Given the description of an element on the screen output the (x, y) to click on. 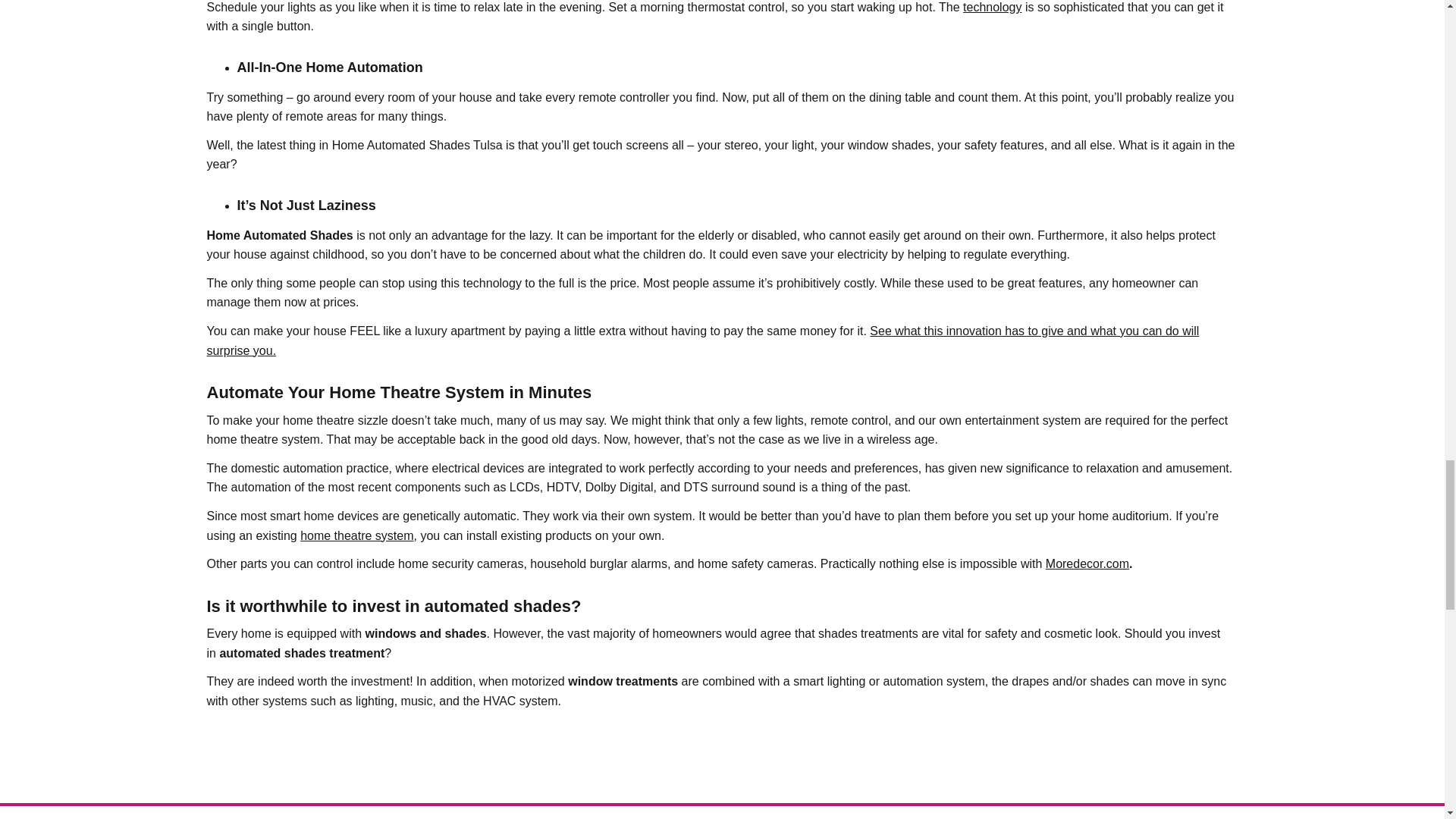
Moredecor.com (1087, 563)
technology (992, 6)
home theatre system (356, 535)
